Given the description of an element on the screen output the (x, y) to click on. 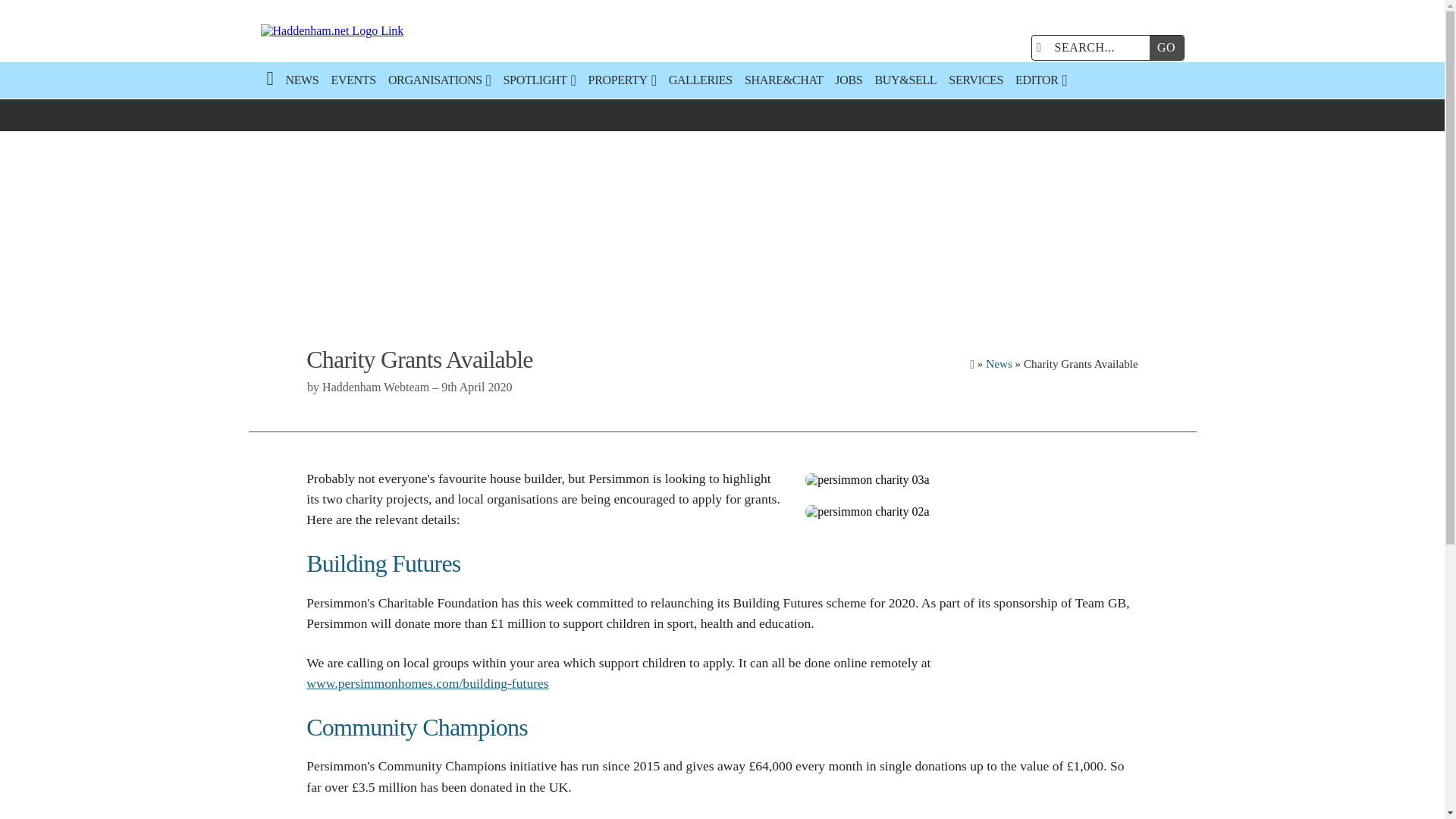
GALLERIES (700, 80)
SPOTLIGHT (539, 80)
News (998, 363)
EDITOR (1041, 80)
PROPERTY (622, 80)
GO (1166, 47)
NEWS (301, 80)
Haddenham.net Home (406, 31)
ORGANISATIONS (439, 80)
